Given the description of an element on the screen output the (x, y) to click on. 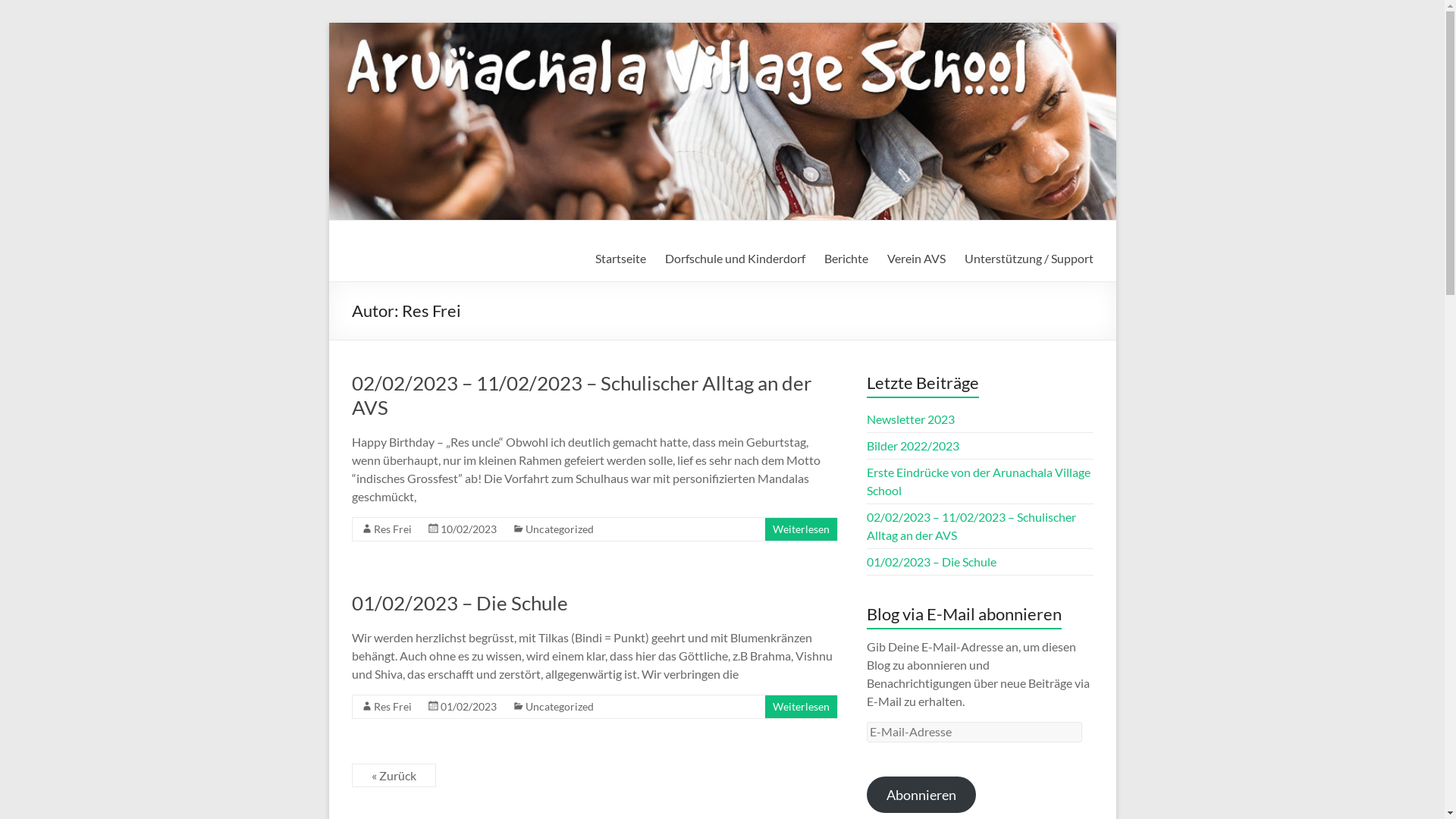
01/02/2023 Element type: text (467, 705)
Verein AVS Element type: text (916, 258)
Zum Inhalt springen Element type: text (327, 21)
Uncategorized Element type: text (558, 705)
Uncategorized Element type: text (558, 527)
Weiterlesen Element type: text (800, 705)
Berichte Element type: text (845, 258)
Arunachala Village School Element type: text (418, 280)
Res Frei Element type: text (392, 527)
Startseite Element type: text (619, 258)
10/02/2023 Element type: text (467, 527)
Abonnieren Element type: text (920, 794)
Res Frei Element type: text (392, 705)
Weiterlesen Element type: text (800, 527)
Newsletter 2023 Element type: text (910, 418)
Dorfschule und Kinderdorf Element type: text (734, 258)
Bilder 2022/2023 Element type: text (912, 445)
